Given the description of an element on the screen output the (x, y) to click on. 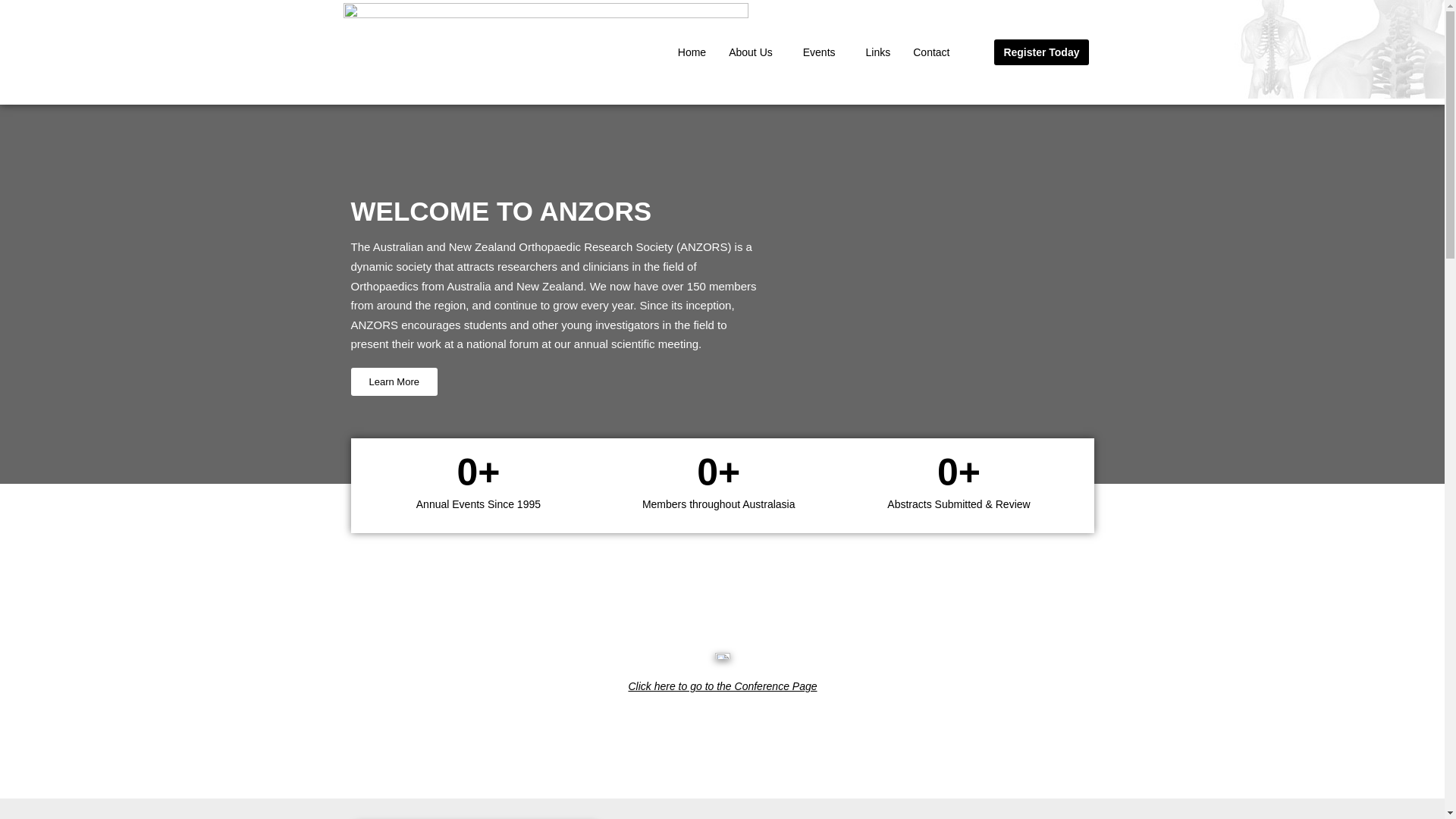
Click here to go to the Conference Page Element type: text (721, 686)
Learn More Element type: text (393, 381)
Events Element type: text (822, 52)
Register Today Element type: text (1041, 52)
Links Element type: text (878, 52)
About Us Element type: text (754, 52)
Contact Element type: text (930, 52)
Home Element type: text (691, 52)
